Given the description of an element on the screen output the (x, y) to click on. 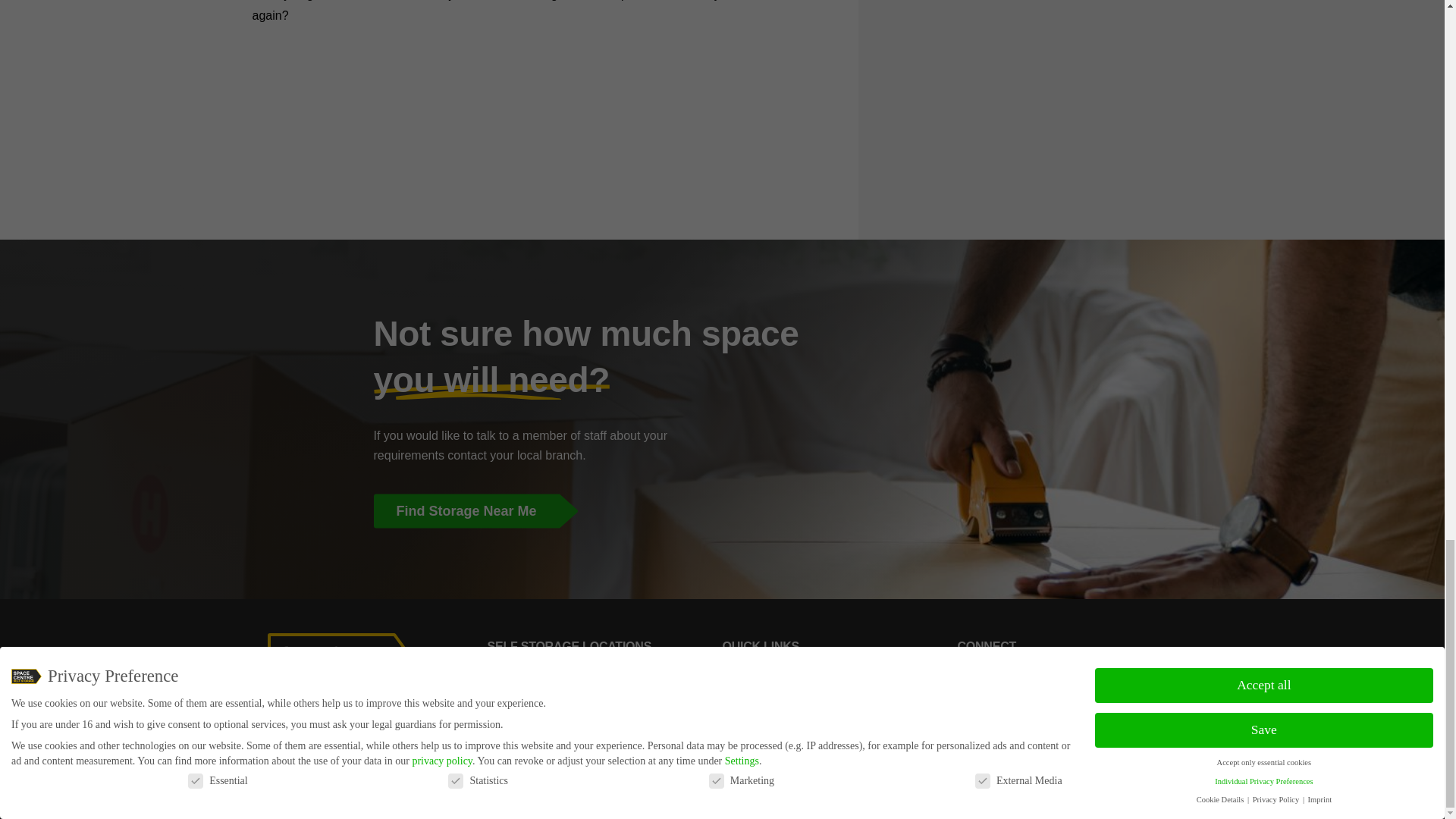
Stonehouse (518, 742)
Contact (742, 699)
Privacy Policy (759, 721)
Find Storage Near Me (721, 511)
Made with in Bristol (1131, 796)
Stroud (504, 721)
Bristol (502, 678)
About (738, 678)
